Given the description of an element on the screen output the (x, y) to click on. 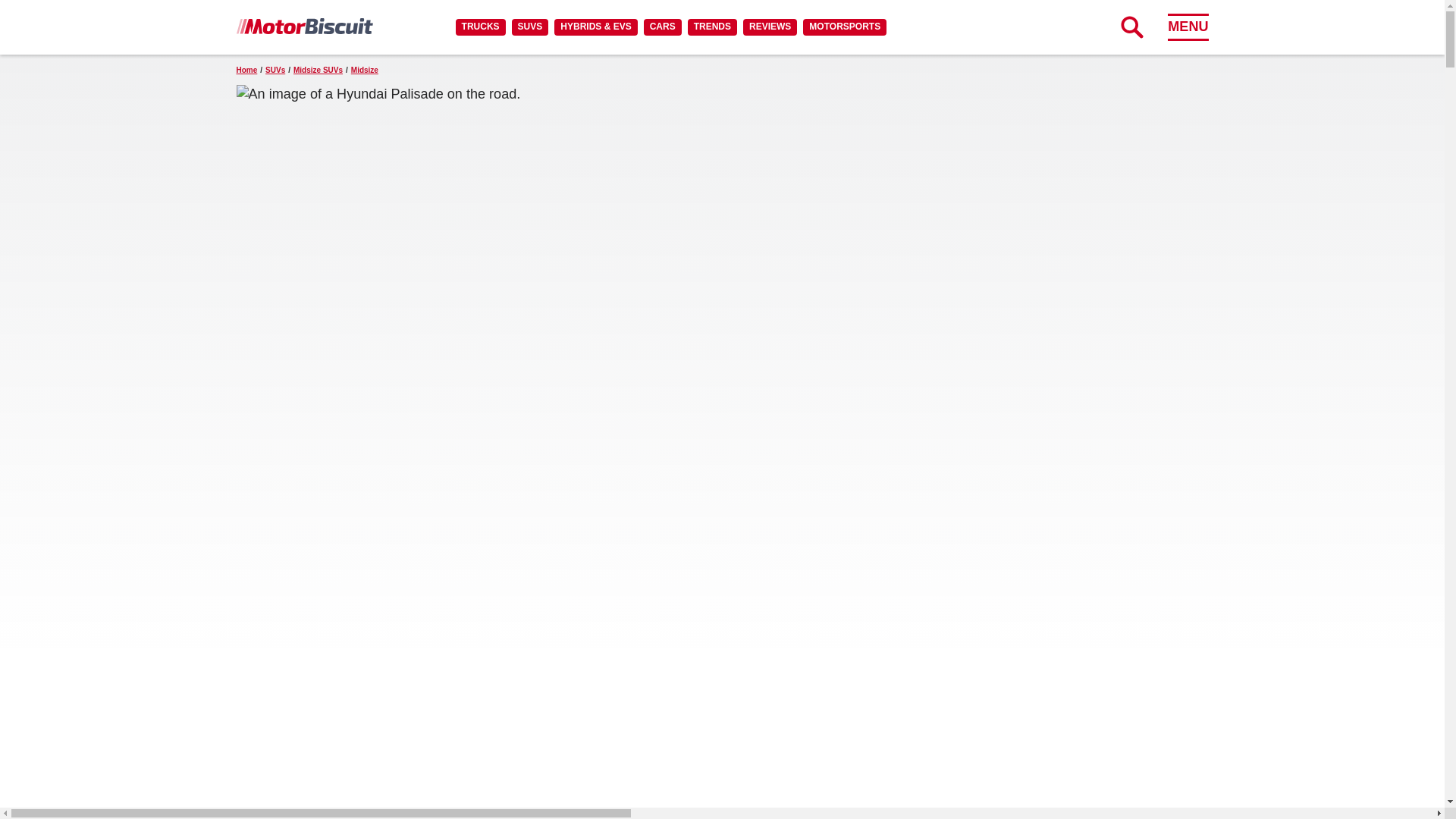
MotorBiscuit (303, 26)
SUVS (530, 26)
Expand Search (1131, 26)
TRUCKS (480, 26)
CARS (662, 26)
REVIEWS (769, 26)
MOTORSPORTS (844, 26)
MENU (1187, 26)
TRENDS (711, 26)
